Given the description of an element on the screen output the (x, y) to click on. 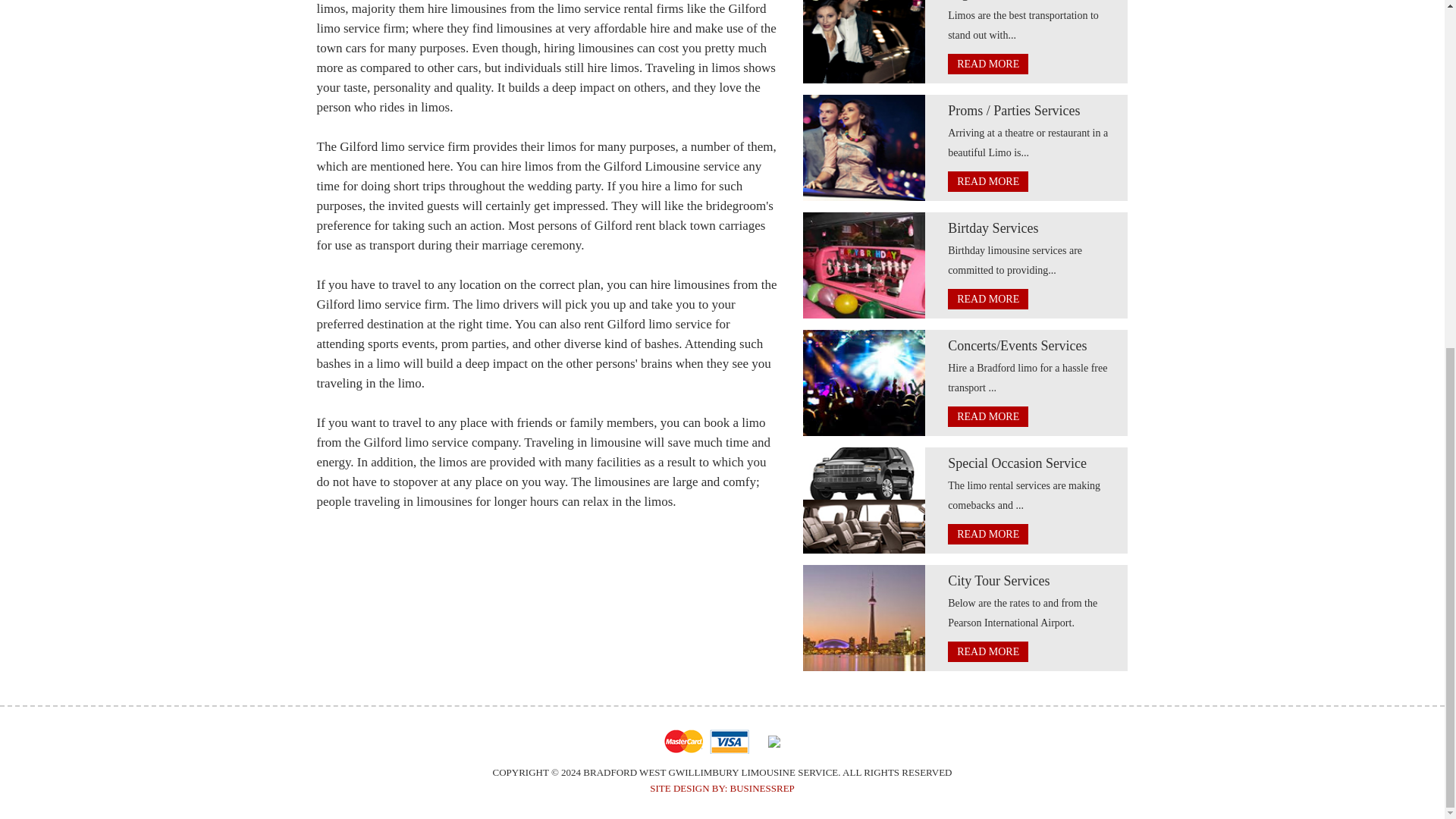
BUSINESSREP (762, 787)
READ MORE (987, 64)
READ MORE (987, 534)
READ MORE (987, 181)
READ MORE (987, 651)
READ MORE (987, 416)
READ MORE (987, 299)
